Given the description of an element on the screen output the (x, y) to click on. 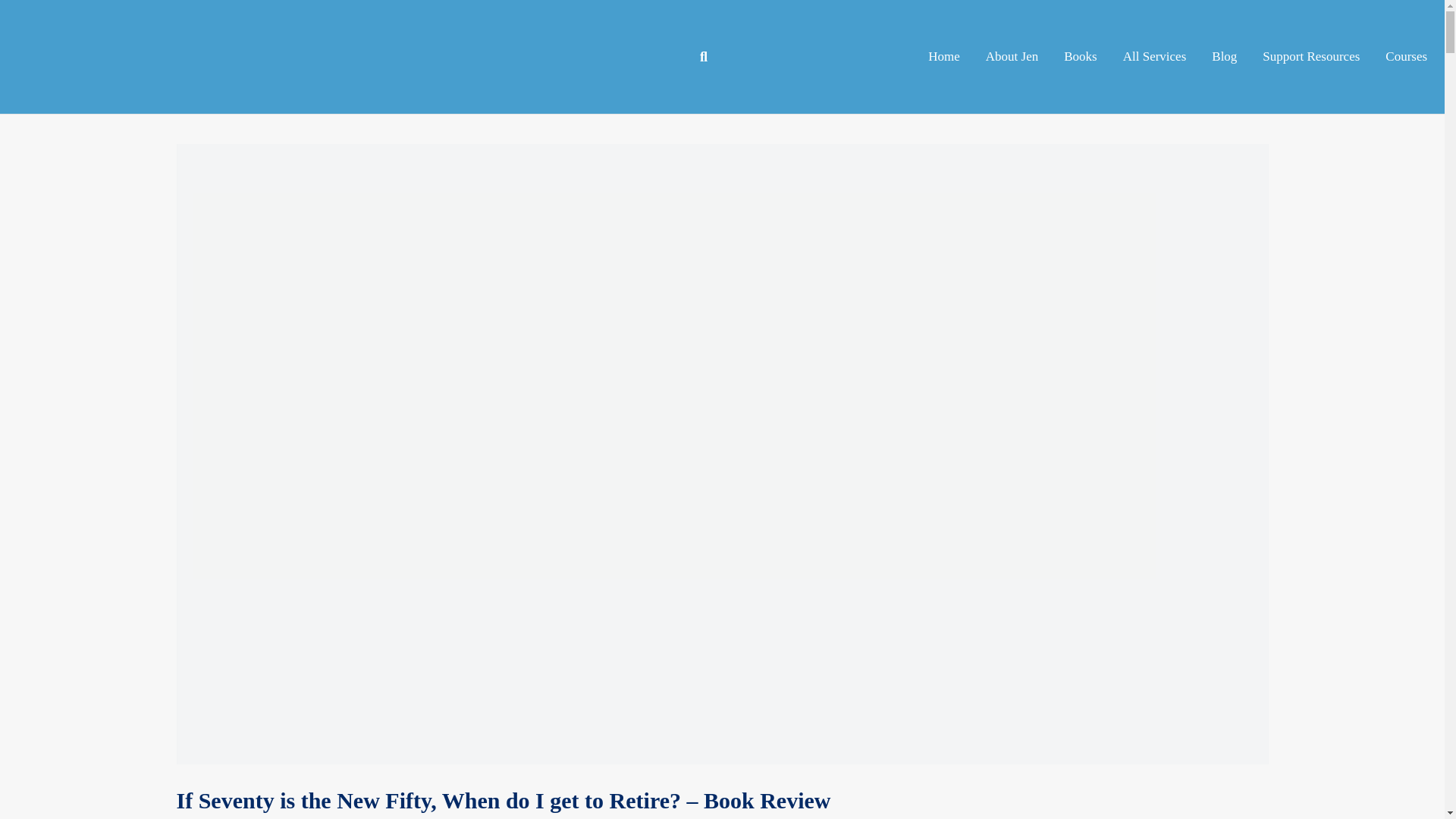
Support Resources (1311, 56)
